Given the description of an element on the screen output the (x, y) to click on. 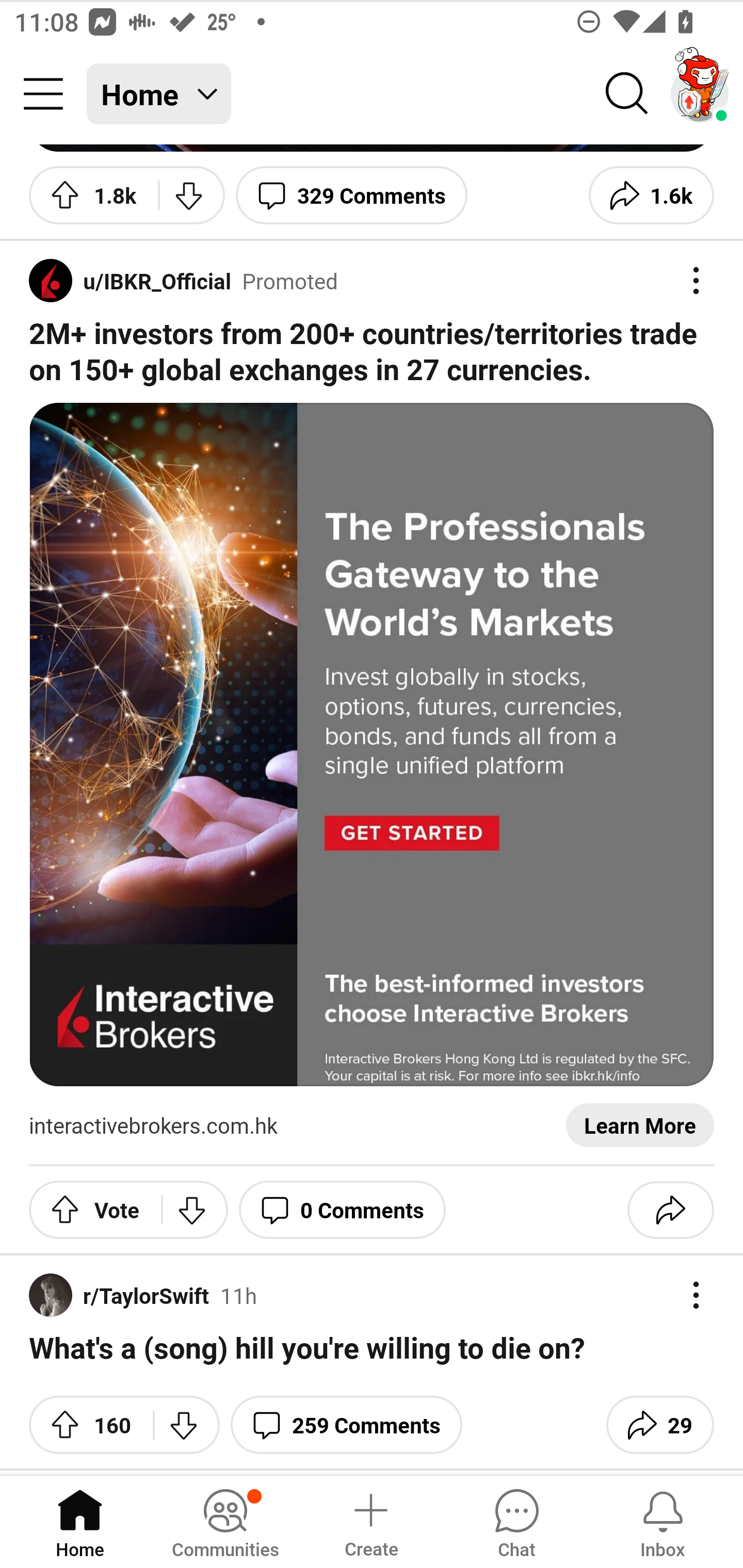
Community menu (43, 93)
Home Home feed (158, 93)
Search (626, 93)
TestAppium002 account (699, 93)
Home (80, 1520)
Communities, has notifications Communities (225, 1520)
Create a post Create (370, 1520)
Chat (516, 1520)
Inbox (662, 1520)
